Given the description of an element on the screen output the (x, y) to click on. 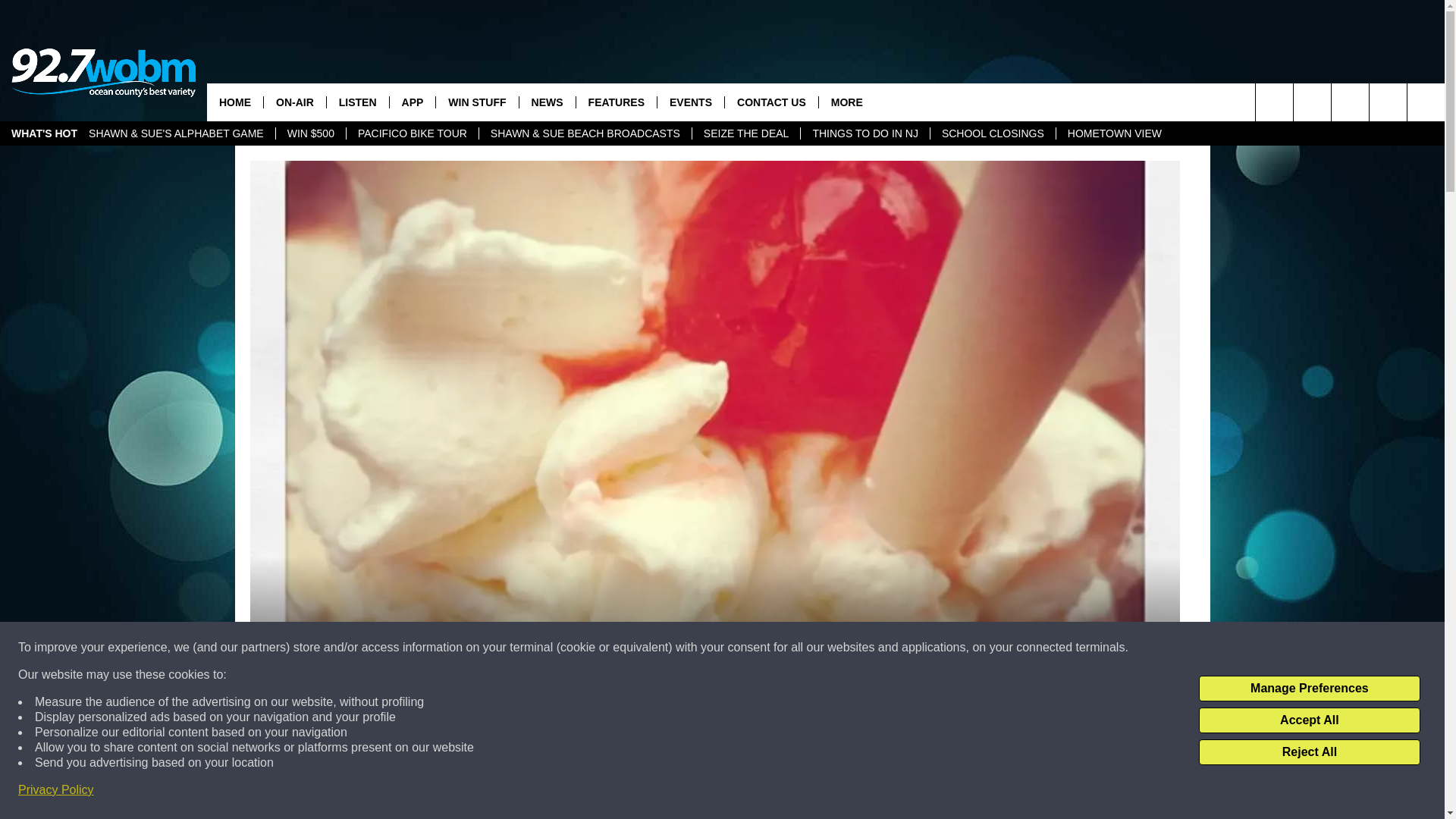
SEIZE THE DEAL (745, 133)
Share on Facebook (517, 791)
Reject All (1309, 751)
ON-AIR (294, 102)
HOME (234, 102)
HOMETOWN VIEW (1114, 133)
Privacy Policy (55, 789)
SCHOOL CLOSINGS (992, 133)
LISTEN (357, 102)
THINGS TO DO IN NJ (864, 133)
Accept All (1309, 720)
Share on Twitter (912, 791)
Manage Preferences (1309, 688)
PACIFICO BIKE TOUR (412, 133)
APP (411, 102)
